Given the description of an element on the screen output the (x, y) to click on. 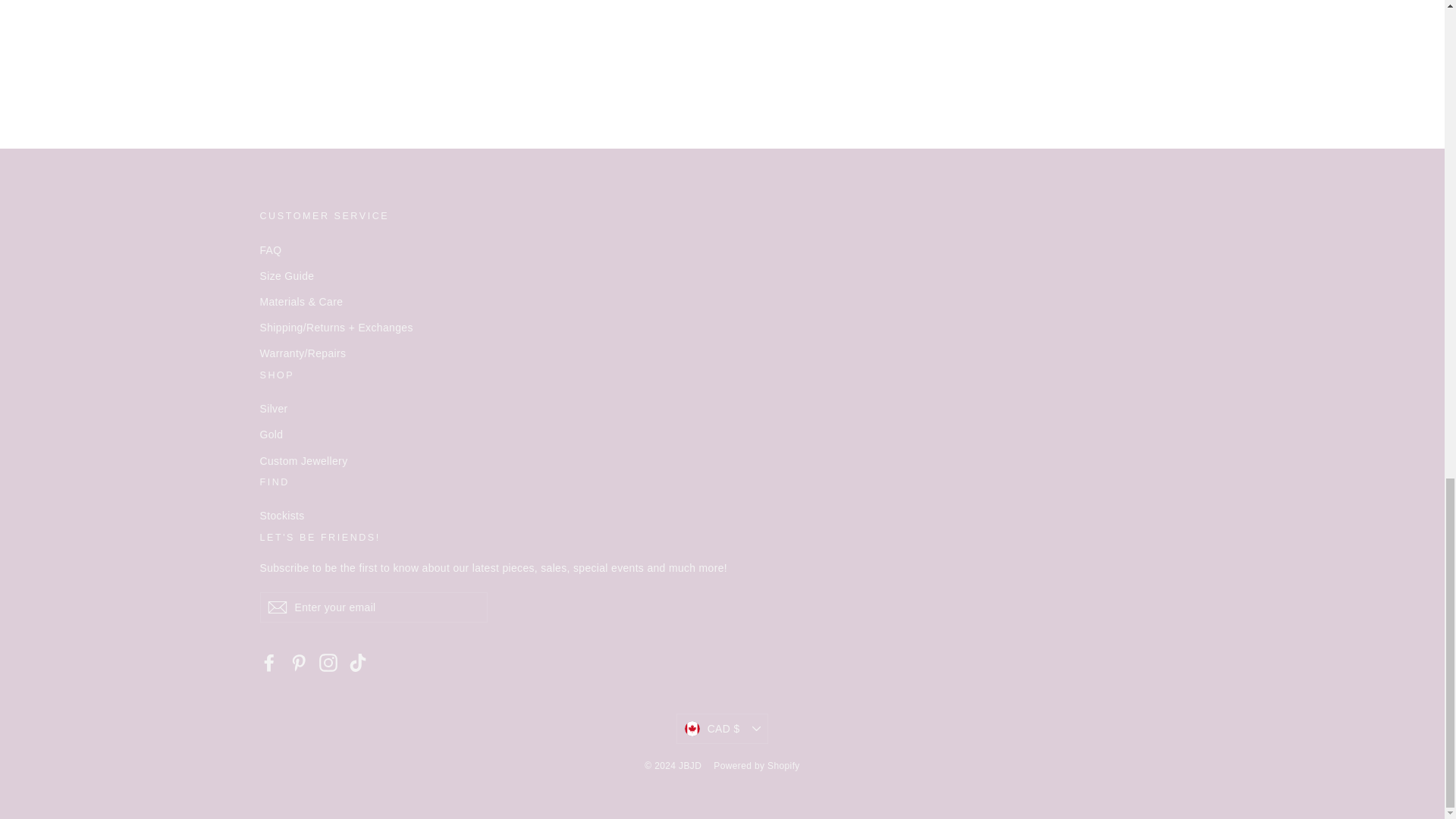
JBJD on TikTok (357, 661)
JBJD on Instagram (327, 661)
JBJD on Facebook (268, 661)
JBJD on Pinterest (298, 661)
